Given the description of an element on the screen output the (x, y) to click on. 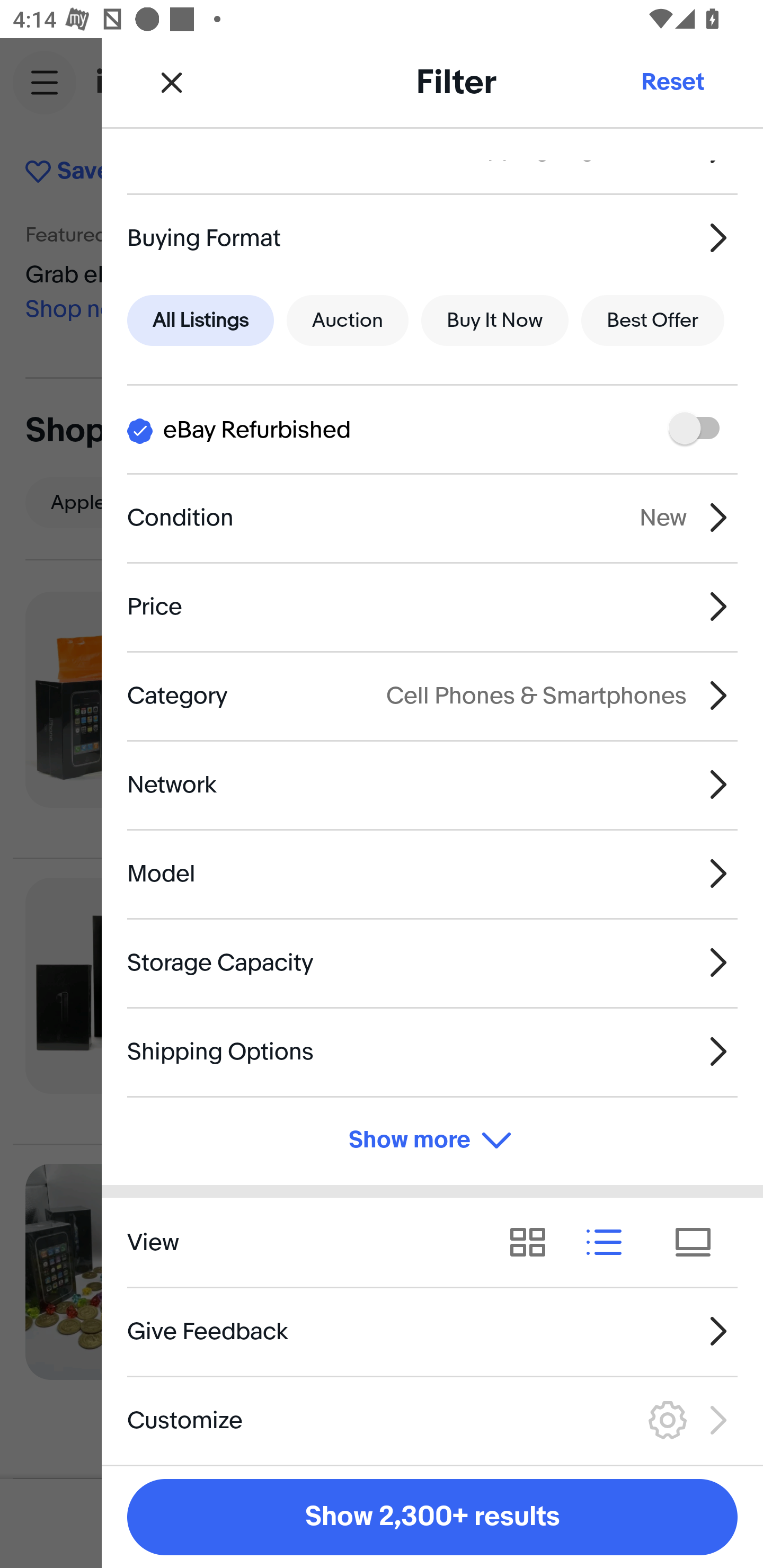
Close Filter (171, 81)
Reset (672, 81)
Buying Format (432, 237)
All Listings (200, 320)
Auction (347, 320)
Buy It Now (494, 320)
Best Offer (652, 320)
I  eBay Refurbished eBay Refurbished (432, 428)
Apple iPhone X Apple iPhone X, Model (593, 502)
Apple iPhone 8 Plus Apple iPhone 8 Plus, Model (732, 502)
Condition New (432, 517)
Price (432, 605)
Category Cell Phones & Smartphones (432, 695)
Network (432, 784)
Model (432, 873)
Storage Capacity (432, 961)
Shipping Options (432, 1051)
Show more (432, 1140)
View results as grid (533, 1242)
View results as list (610, 1242)
View results as tiles (699, 1242)
Customize (432, 1419)
Show 2,300+ results (432, 1516)
